Given the description of an element on the screen output the (x, y) to click on. 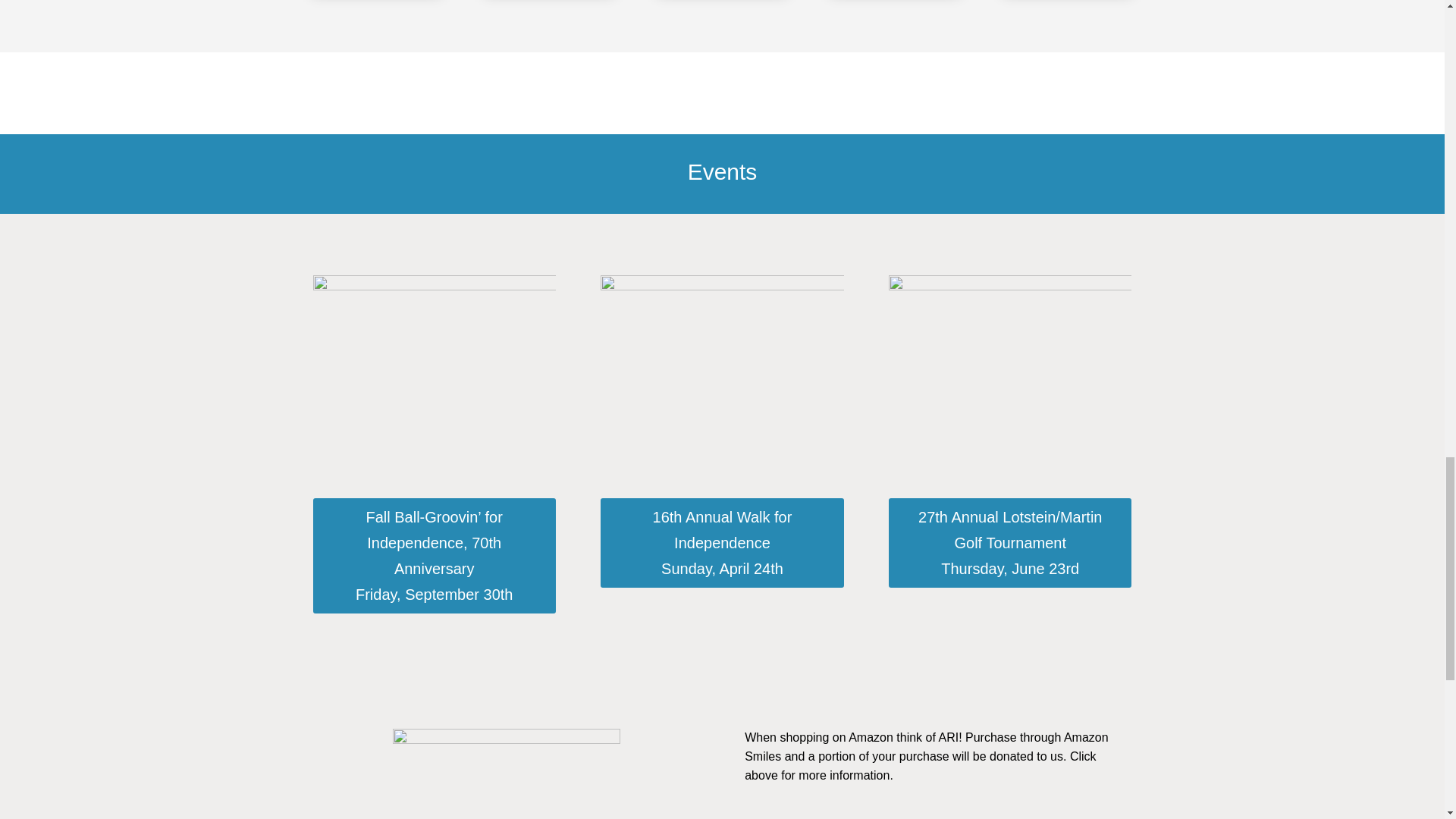
amazon smile (506, 773)
Web-Golf (1009, 366)
web (433, 366)
Arestia (721, 366)
